Given the description of an element on the screen output the (x, y) to click on. 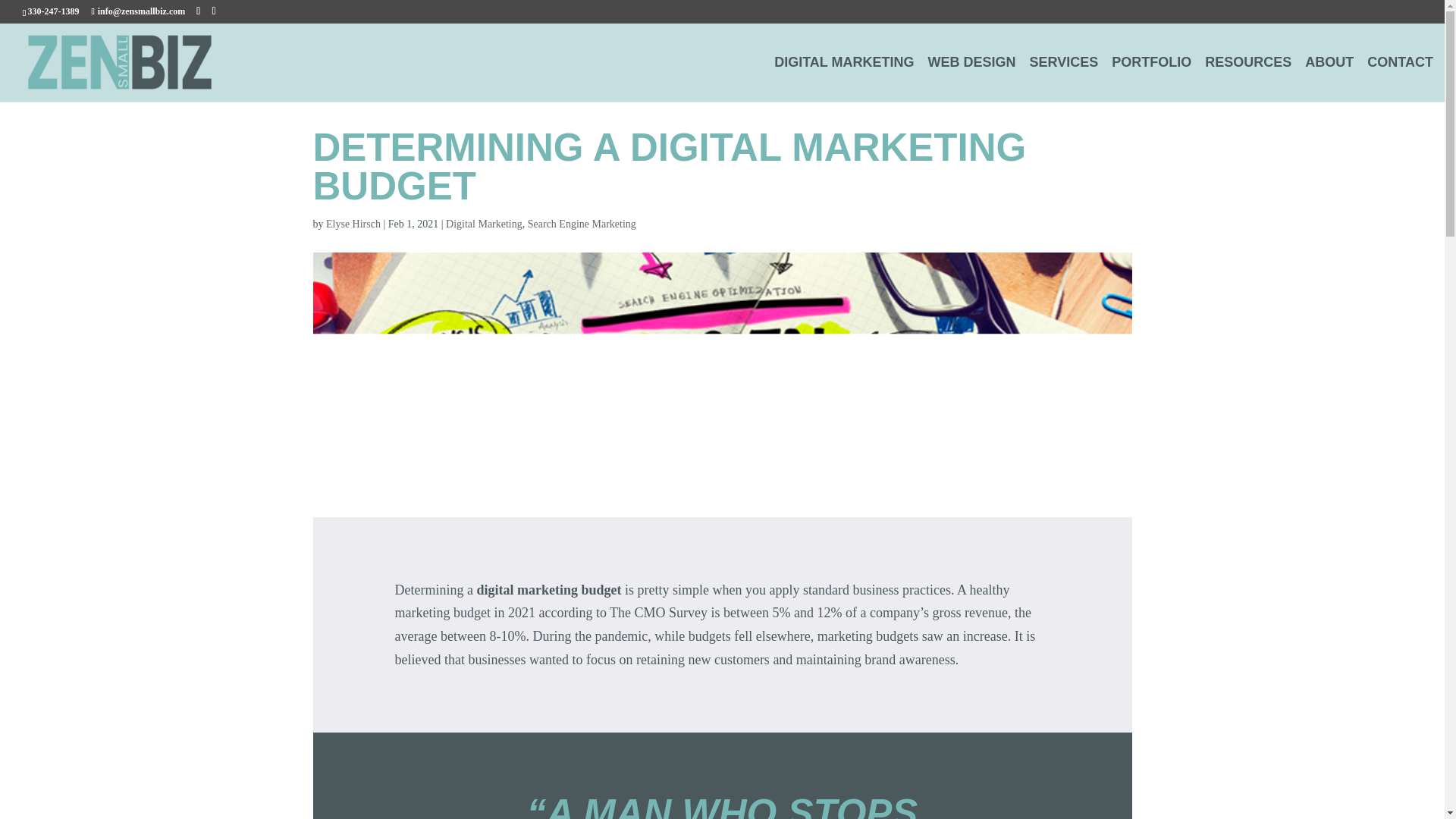
SERVICES (1064, 78)
WEB DESIGN (972, 78)
PORTFOLIO (1151, 78)
Search Engine Marketing (581, 224)
Posts by Elyse Hirsch (353, 224)
CONTACT (1399, 78)
RESOURCES (1248, 78)
Elyse Hirsch (353, 224)
ABOUT (1329, 78)
DIGITAL MARKETING (844, 78)
Digital Marketing (483, 224)
